Given the description of an element on the screen output the (x, y) to click on. 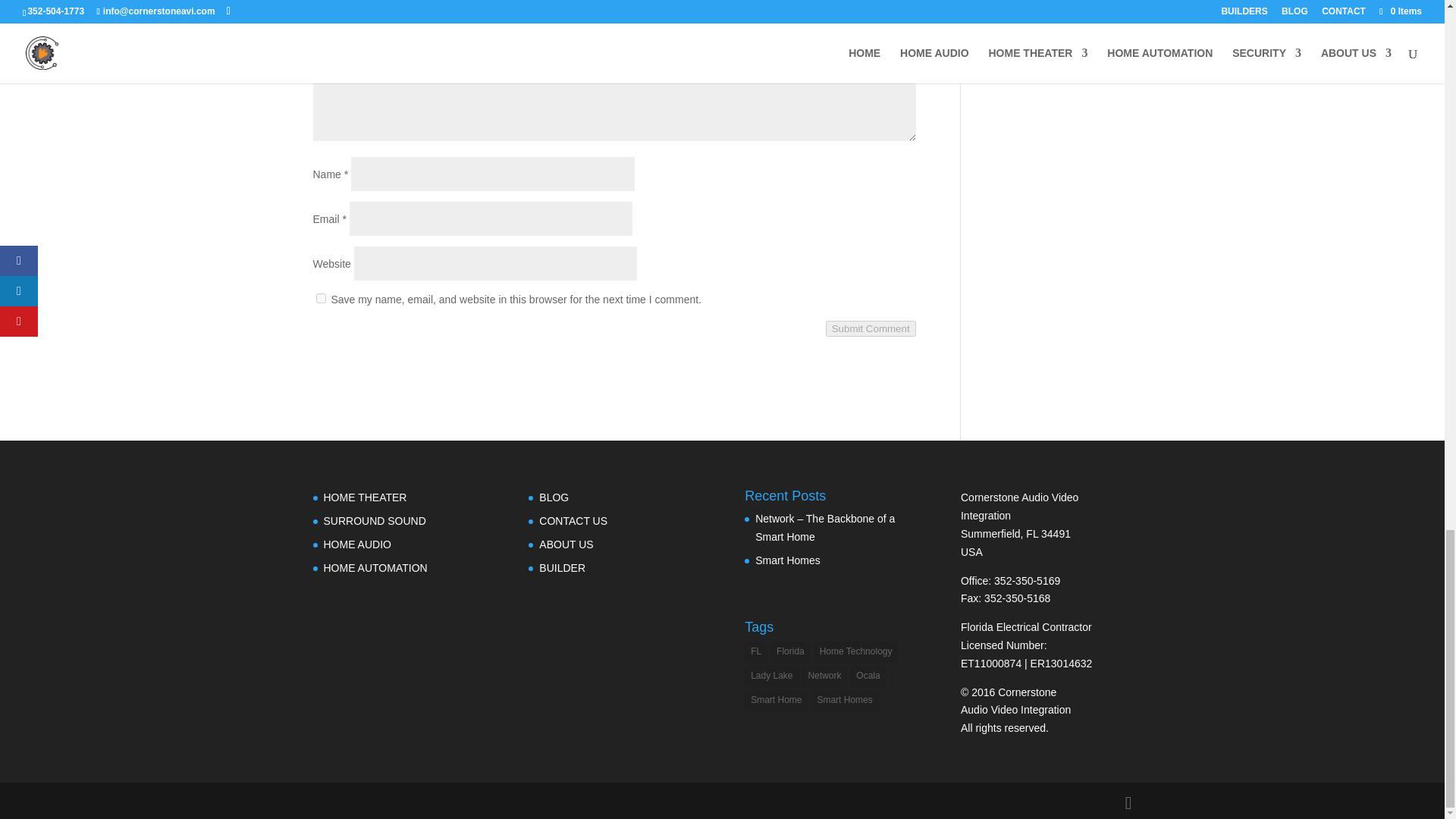
yes (319, 298)
HOME THEATER (364, 497)
Submit Comment (870, 328)
SURROUND SOUND (374, 521)
